Given the description of an element on the screen output the (x, y) to click on. 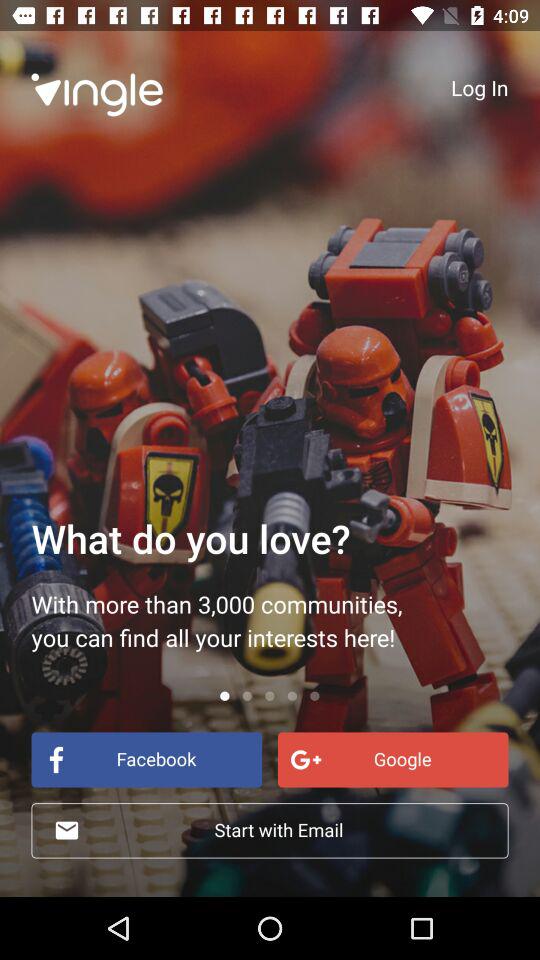
flip to the start with email (269, 830)
